Given the description of an element on the screen output the (x, y) to click on. 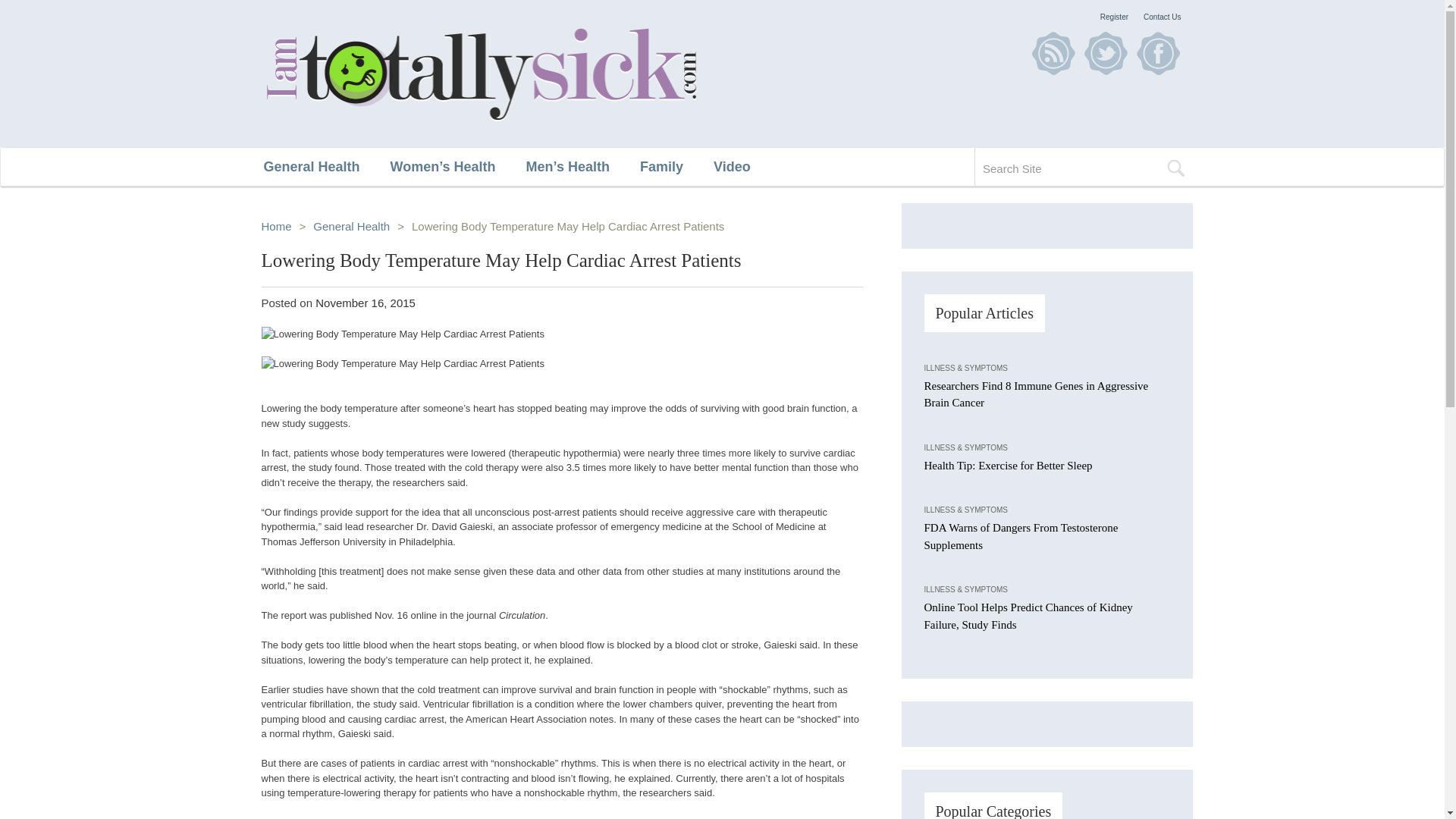
General Health (351, 226)
RSS (1052, 53)
General Health (326, 166)
Register (1114, 17)
November 16, 2015 (364, 302)
Health Tip: Exercise for Better Sleep (1007, 465)
Video (746, 166)
Contact Us (1161, 17)
Home (275, 226)
Lowering Body Temperature May Help Cardiac Arrest Patients (561, 334)
FDA Warns of Dangers From Testosterone Supplements (1020, 536)
Facebook (1157, 53)
Twitter (1106, 53)
Family (676, 166)
